Given the description of an element on the screen output the (x, y) to click on. 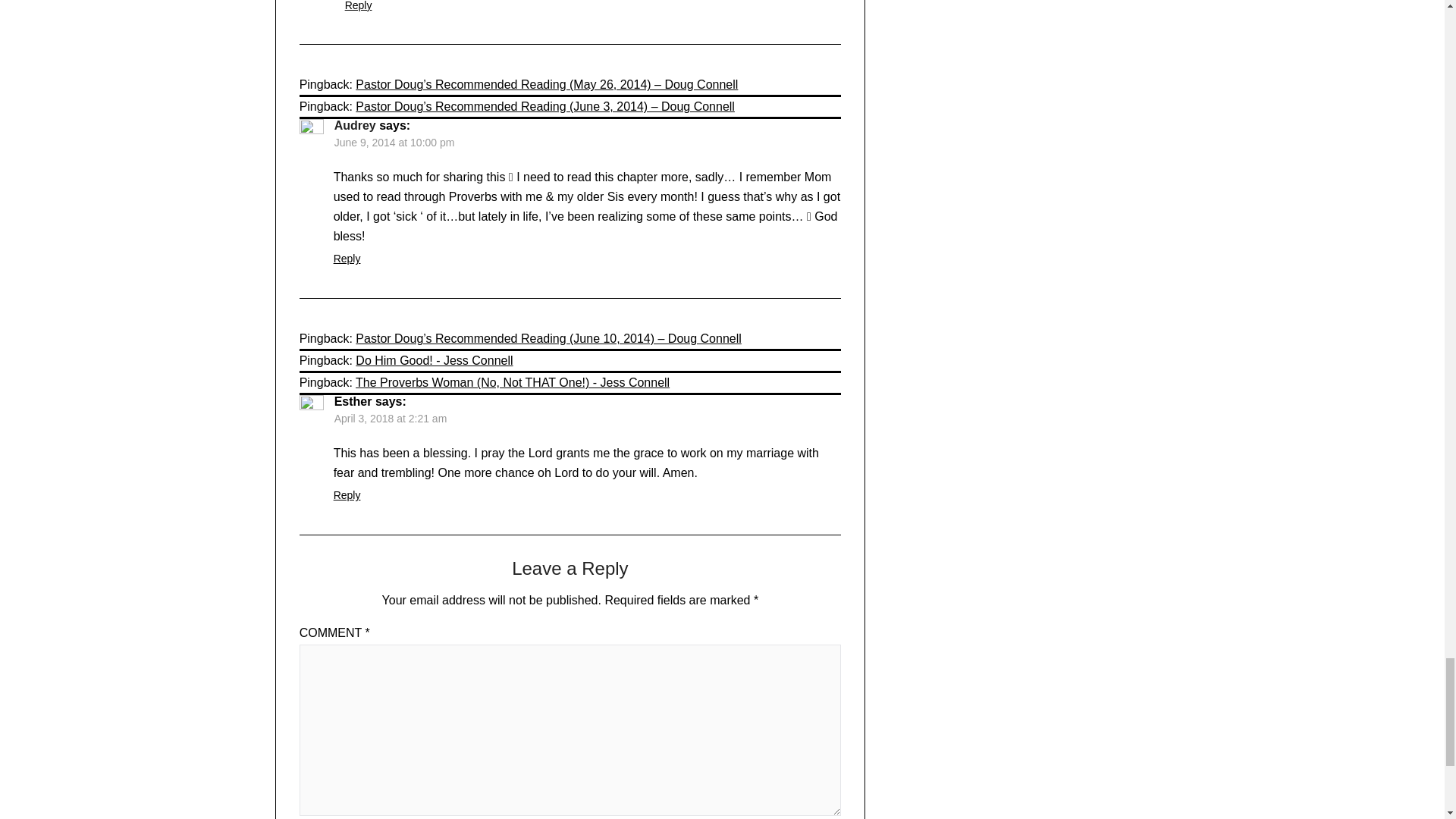
Reply (358, 5)
Audrey (354, 124)
June 9, 2014 at 10:00 pm (394, 142)
